Given the description of an element on the screen output the (x, y) to click on. 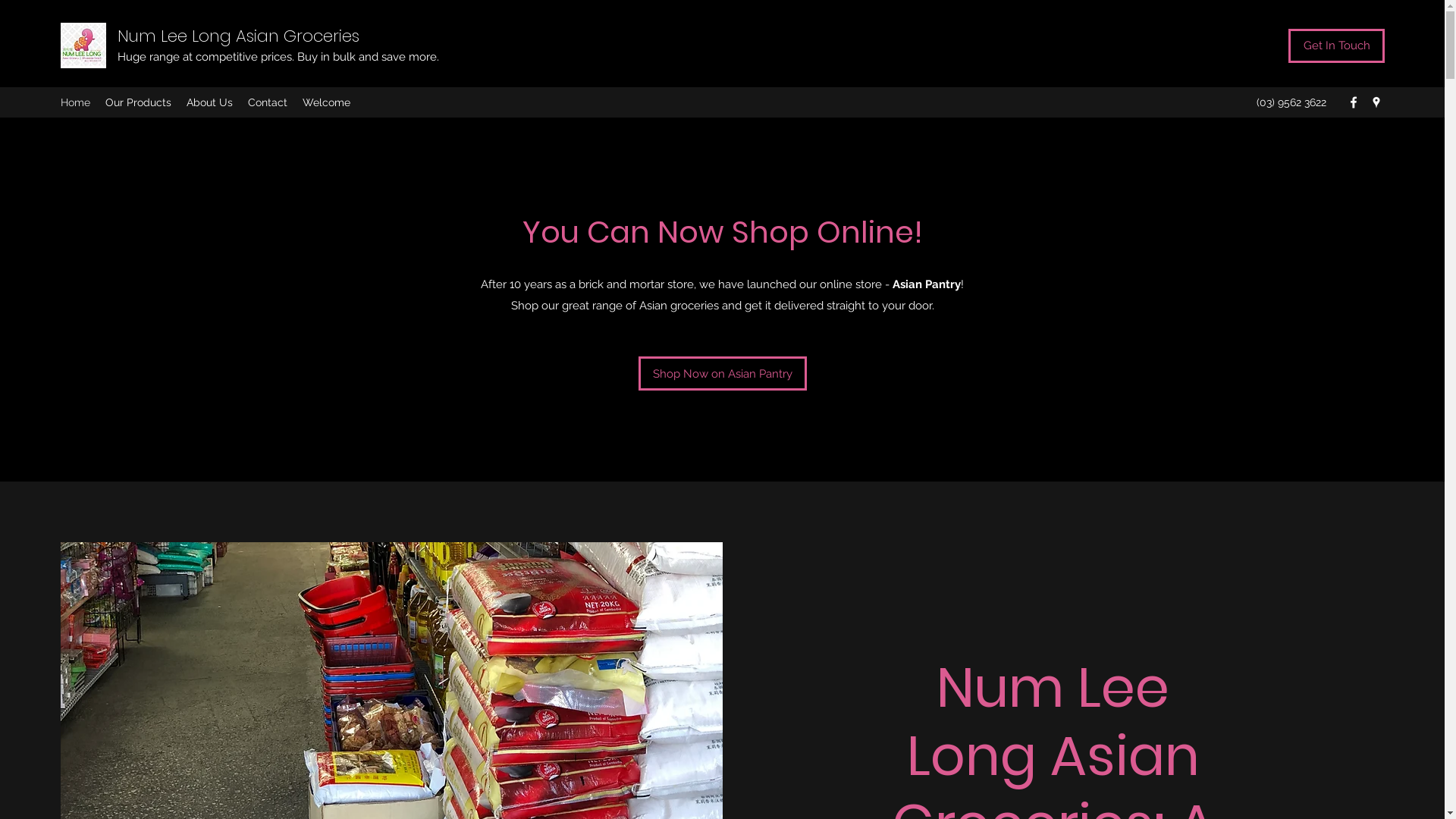
Home Element type: text (75, 102)
Our Products Element type: text (137, 102)
Contact Element type: text (267, 102)
Welcome Element type: text (325, 102)
Get In Touch Element type: text (1336, 45)
Shop Now on Asian Pantry Element type: text (722, 373)
Num Lee Long Asian Groceries Element type: text (238, 35)
About Us Element type: text (209, 102)
